Given the description of an element on the screen output the (x, y) to click on. 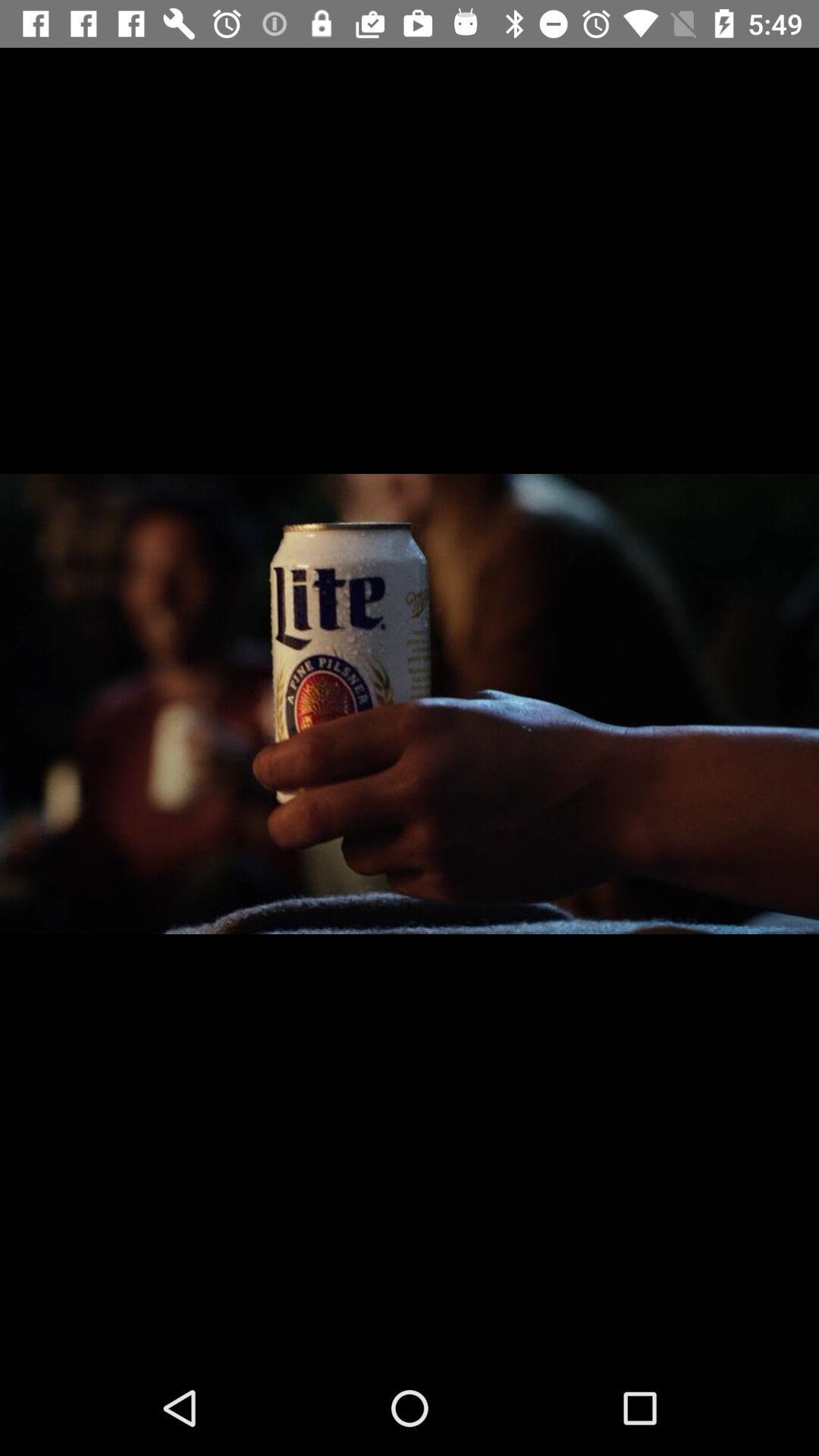
tap the icon at the center (409, 703)
